Given the description of an element on the screen output the (x, y) to click on. 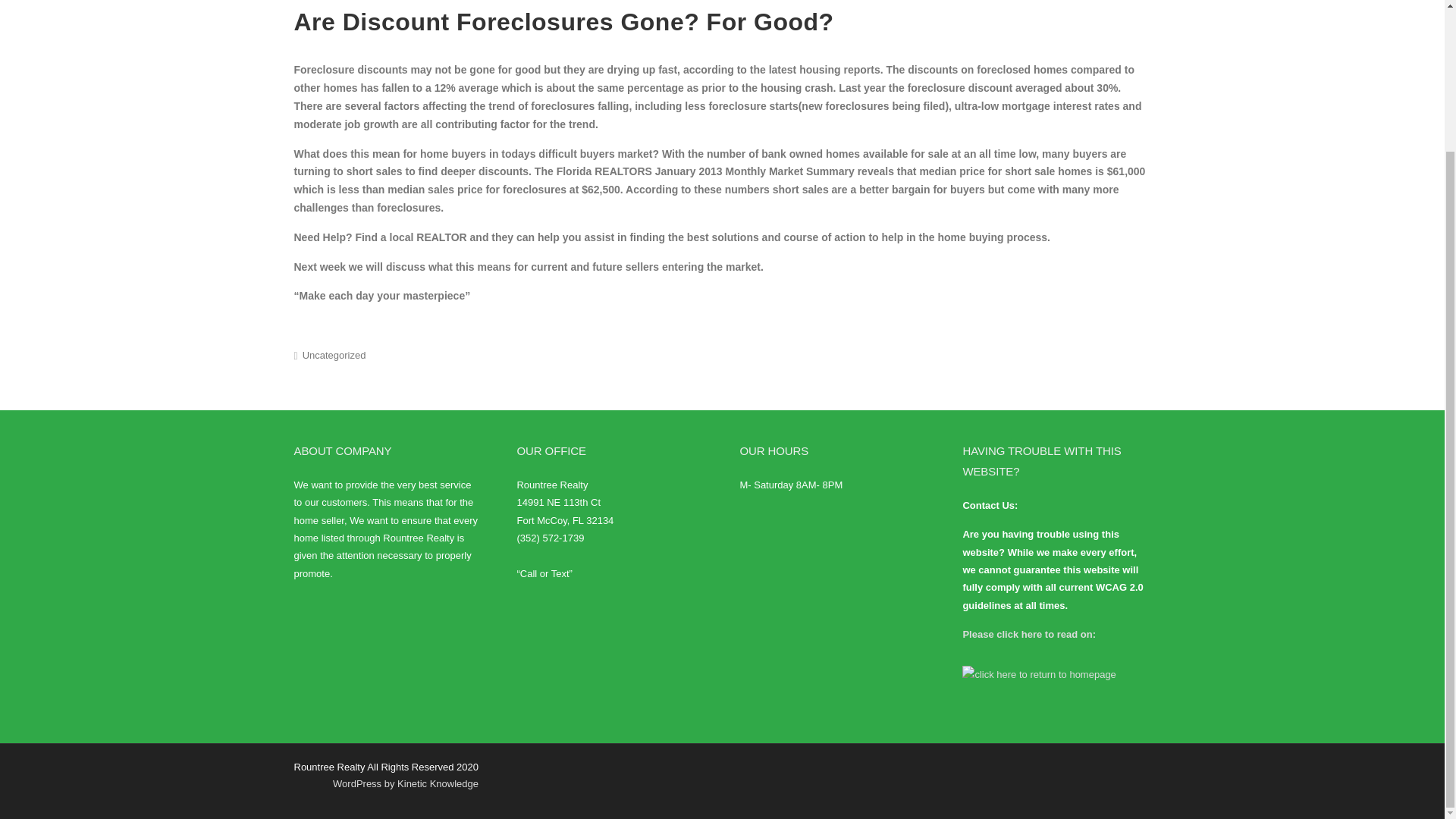
WordPress by Kinetic Knowledge (406, 783)
Please click here to read on: (1029, 633)
Uncategorized (334, 355)
